Given the description of an element on the screen output the (x, y) to click on. 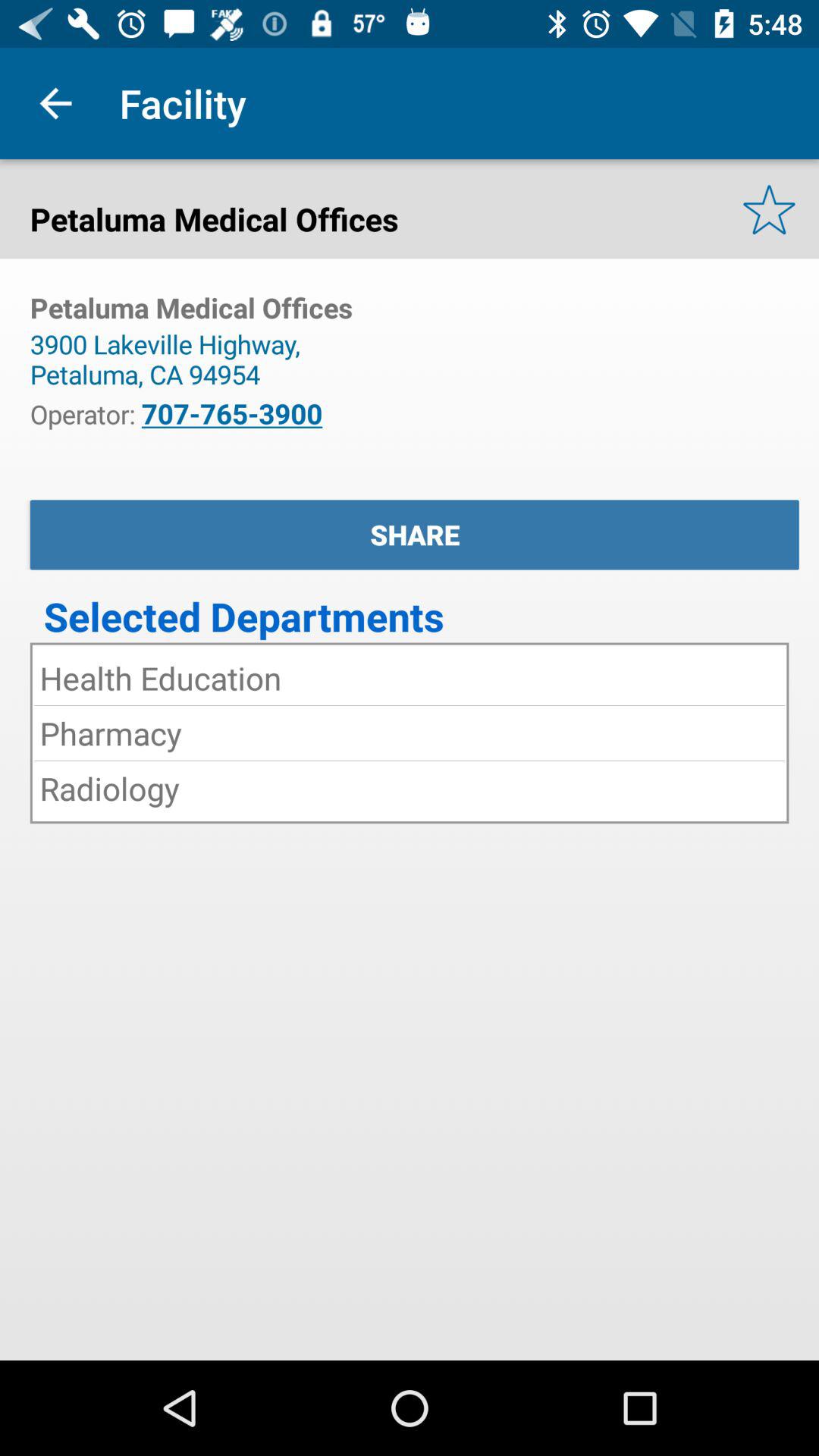
turn on item above petaluma medical offices item (55, 103)
